Given the description of an element on the screen output the (x, y) to click on. 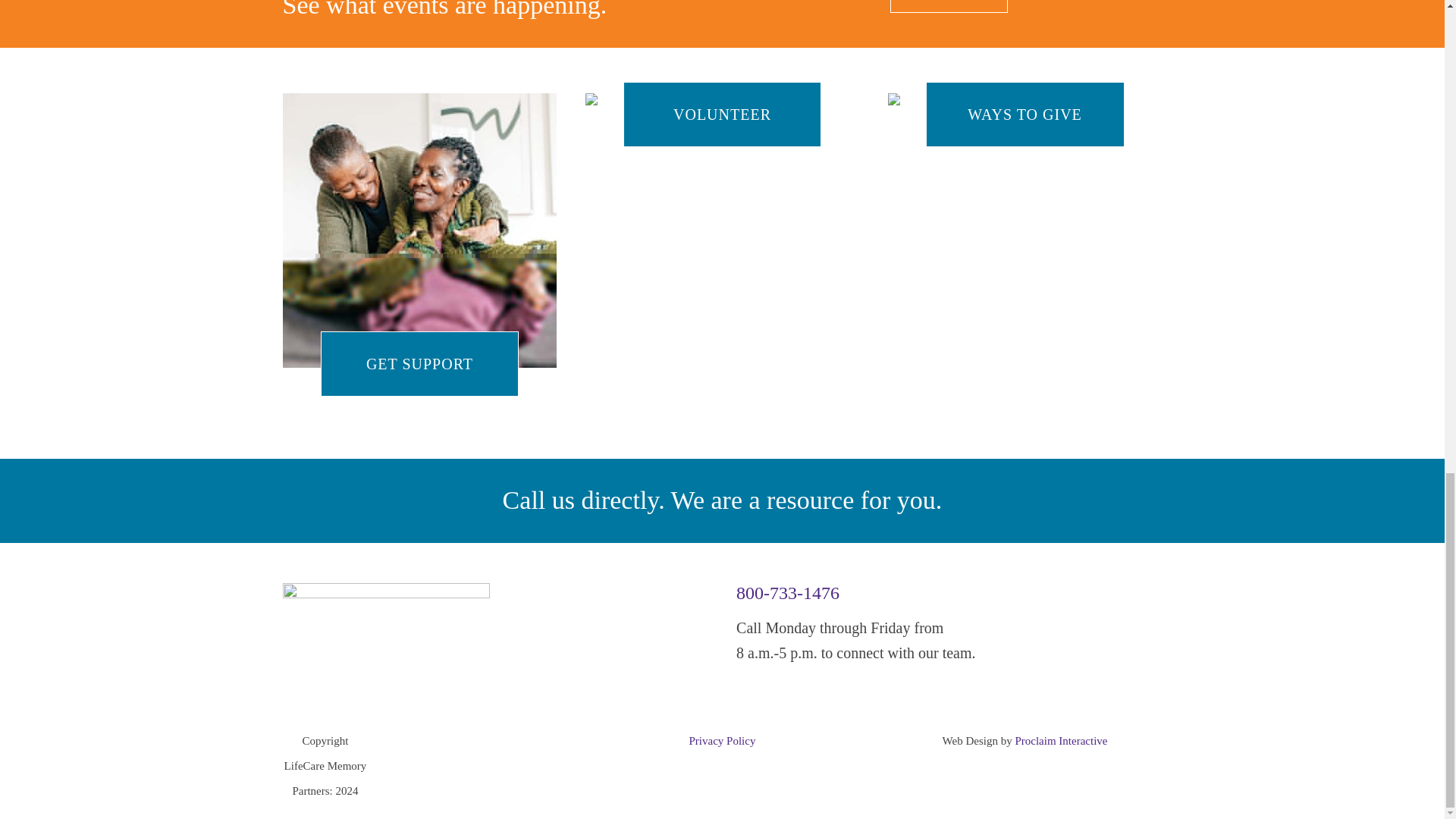
GET SUPPORT (419, 363)
WAYS TO GIVE (1024, 114)
Privacy Policy (721, 740)
VOLUNTEER (722, 105)
Learn More (948, 6)
GET SUPPORT (419, 230)
VOLUNTEER (721, 114)
800-733-1476 (788, 592)
Proclaim Interactive (1060, 740)
WAYS TO GIVE (1024, 105)
